Given the description of an element on the screen output the (x, y) to click on. 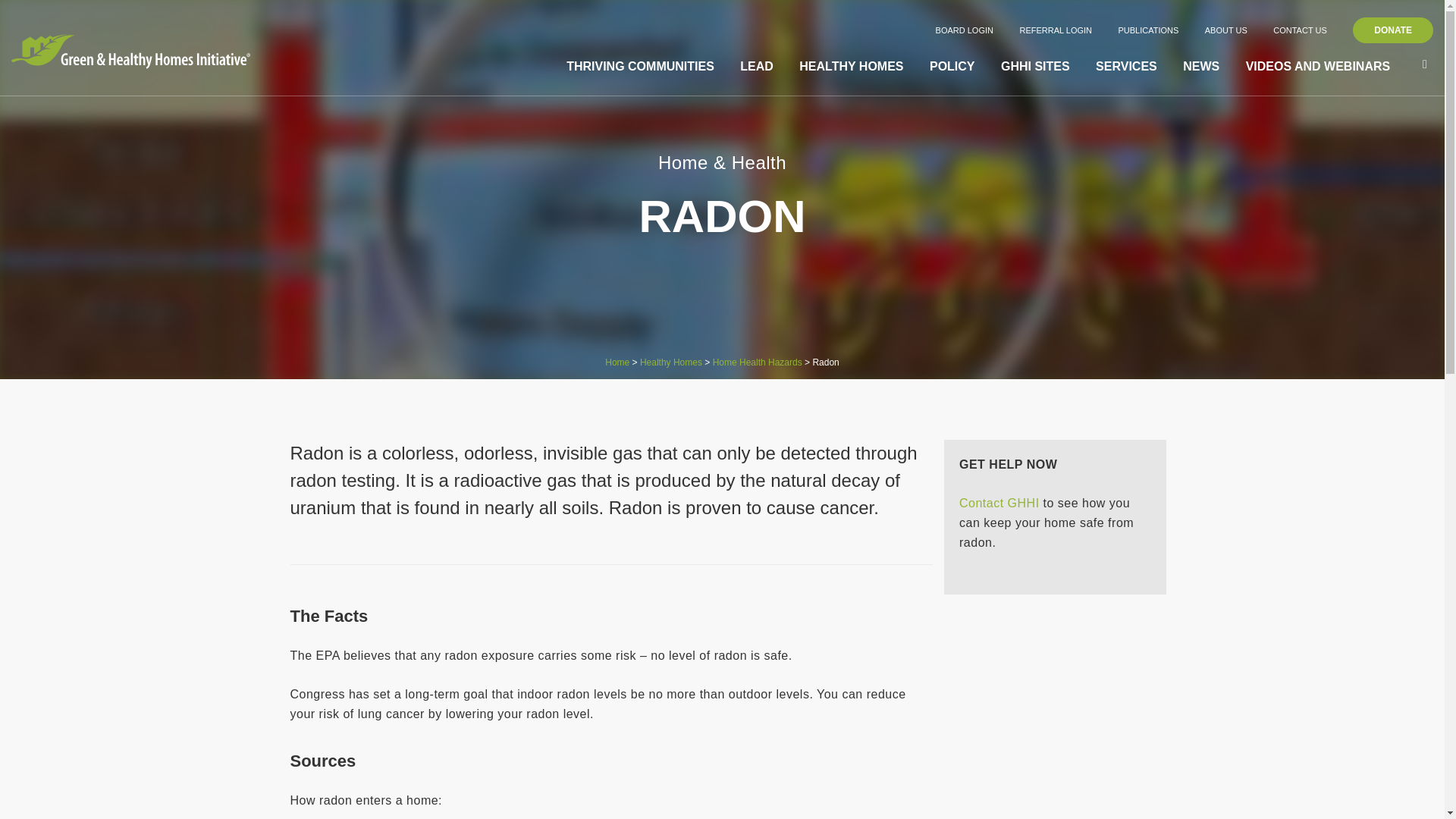
HEALTHY HOMES (850, 66)
REFERRAL LOGIN (1055, 30)
POLICY (952, 66)
GHHI SITES (1035, 66)
Go to Healthy Homes. (670, 362)
Go to Home Health Hazards. (757, 362)
CONTACT US (1299, 30)
BOARD LOGIN (964, 30)
SERVICES (1126, 66)
DONATE (1392, 30)
THRIVING COMMUNITIES (640, 66)
PUBLICATIONS (1147, 30)
ABOUT US (1226, 30)
